Given the description of an element on the screen output the (x, y) to click on. 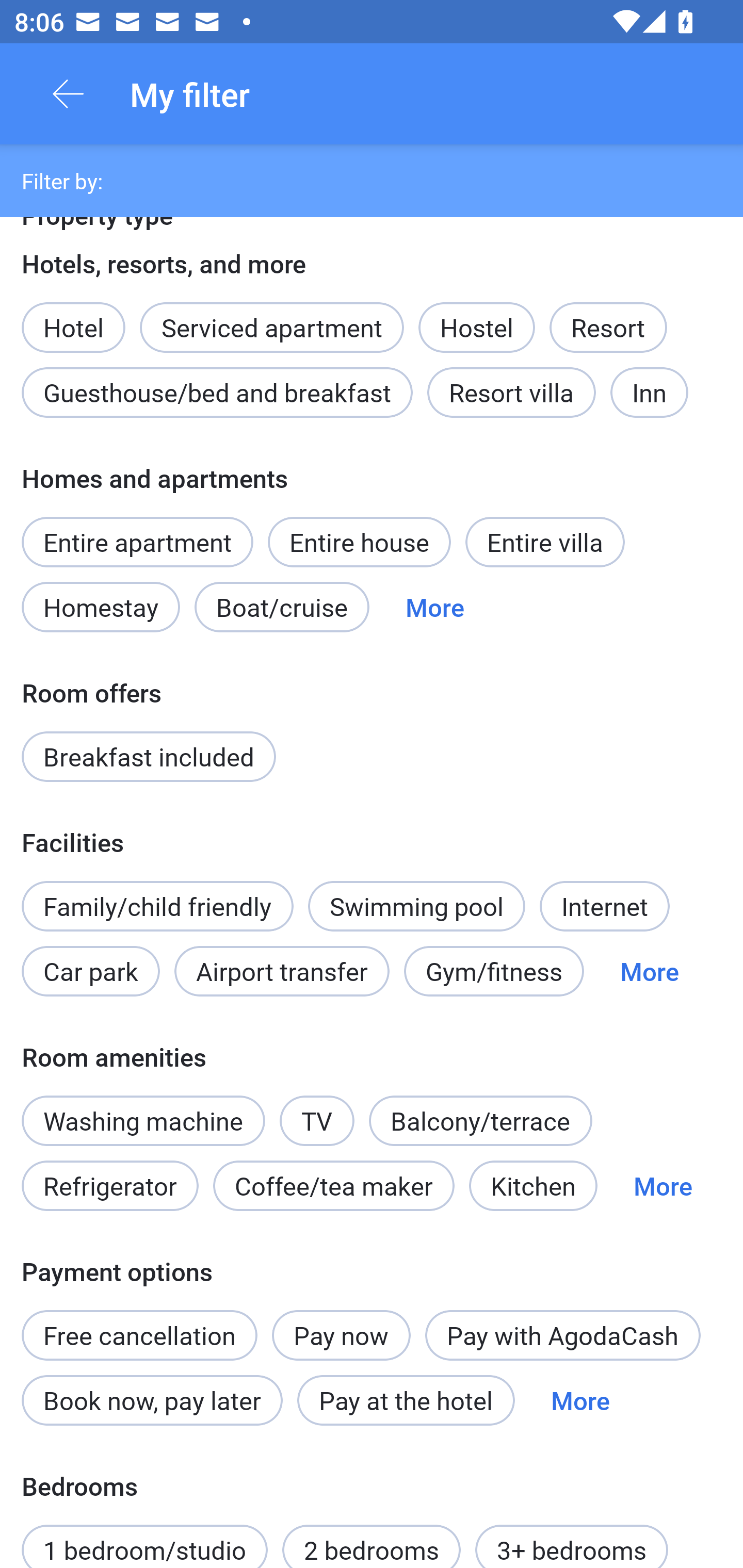
Hotel (73, 316)
Serviced apartment (271, 316)
Hostel (476, 327)
Resort (608, 327)
Guesthouse/bed and breakfast (217, 392)
Resort villa (511, 392)
Inn (649, 392)
Entire apartment (137, 541)
Entire house (359, 541)
Entire villa (544, 541)
Homestay (100, 607)
Boat/cruise (281, 607)
More (434, 607)
Breakfast included (148, 756)
Family/child friendly (157, 906)
Swimming pool (416, 906)
Internet (604, 906)
Car park (90, 971)
Airport transfer (281, 971)
Gym/fitness (493, 971)
More (649, 971)
Washing machine (143, 1120)
TV (317, 1110)
Balcony/terrace (480, 1120)
Refrigerator (109, 1186)
Coffee/tea maker (333, 1186)
Kitchen (532, 1186)
More (663, 1186)
Free cancellation (139, 1324)
Pay now (340, 1335)
Pay with AgodaCash (562, 1335)
Book now, pay later (152, 1400)
Pay at the hotel (405, 1400)
More (580, 1400)
1 bedroom/studio (144, 1537)
2 bedrooms (371, 1537)
3+ bedrooms (571, 1537)
